Given the description of an element on the screen output the (x, y) to click on. 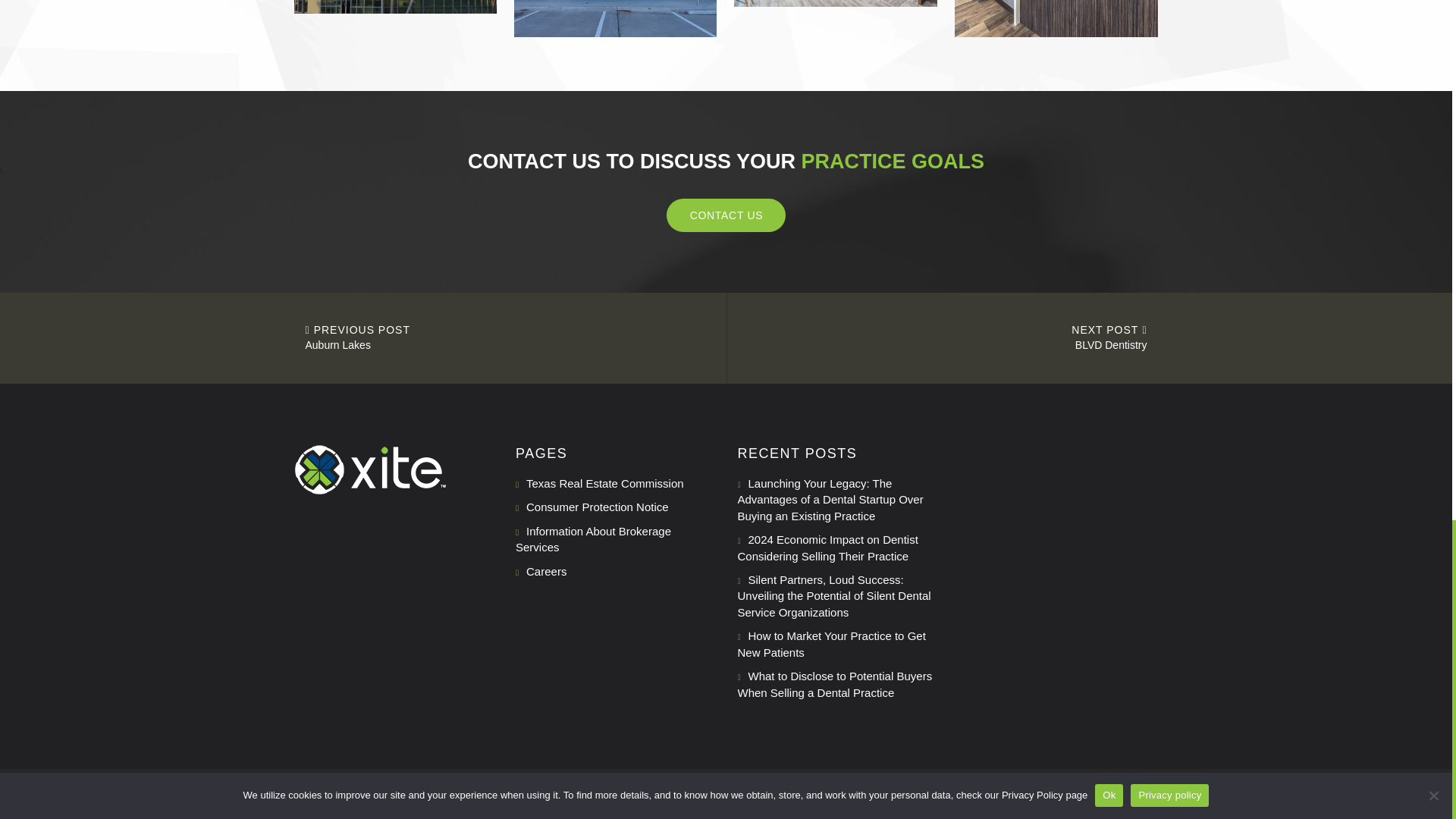
Z Pediatric Dentistry (395, 6)
WoodSprings Dentistry (1056, 18)
Wylie Dentistry Co. (835, 3)
Z Dentistry (615, 18)
